Given the description of an element on the screen output the (x, y) to click on. 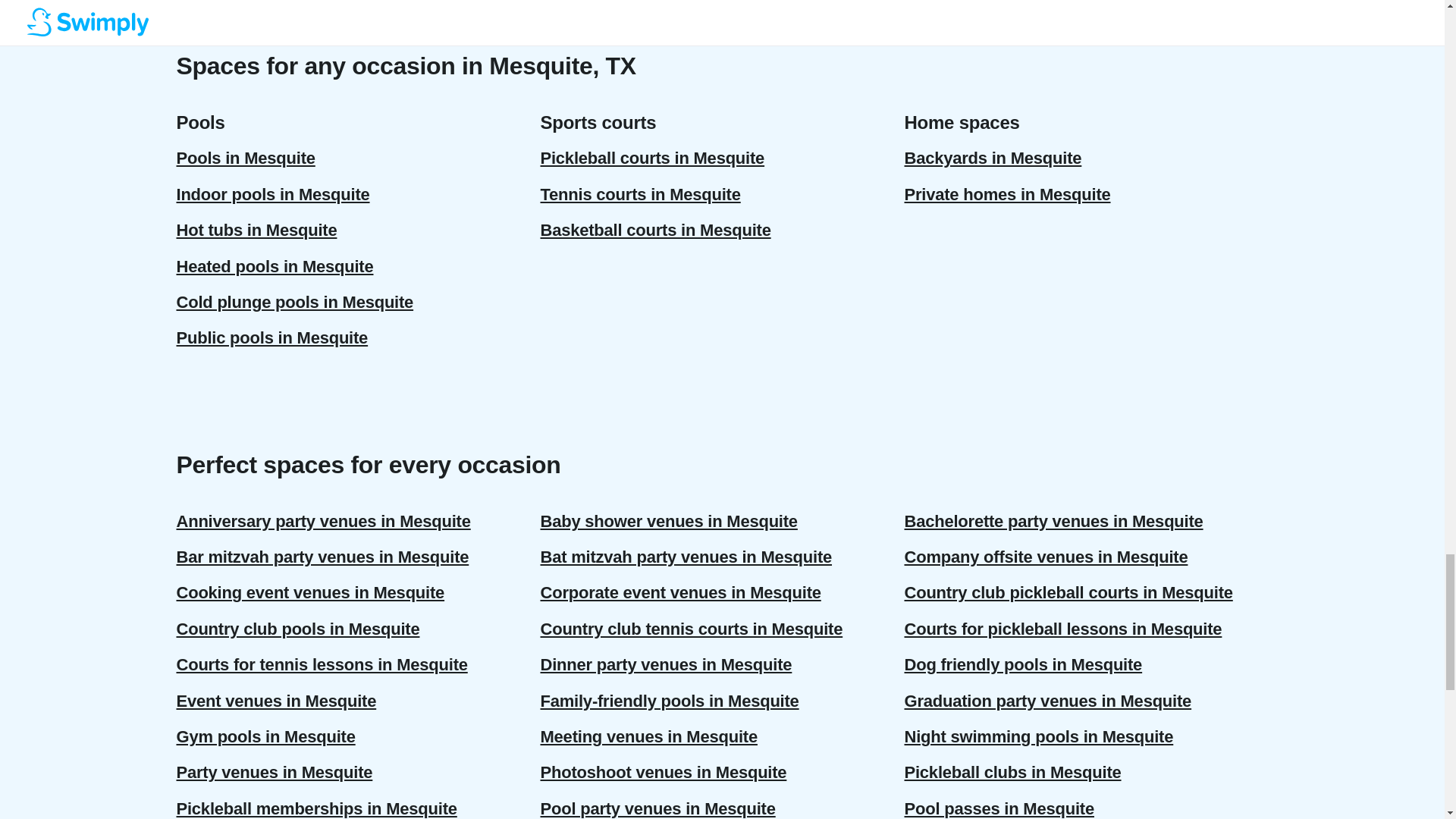
Indoor pools in Mesquite (358, 194)
Pools in Mesquite (358, 158)
Hot tubs in Mesquite (358, 230)
